Given the description of an element on the screen output the (x, y) to click on. 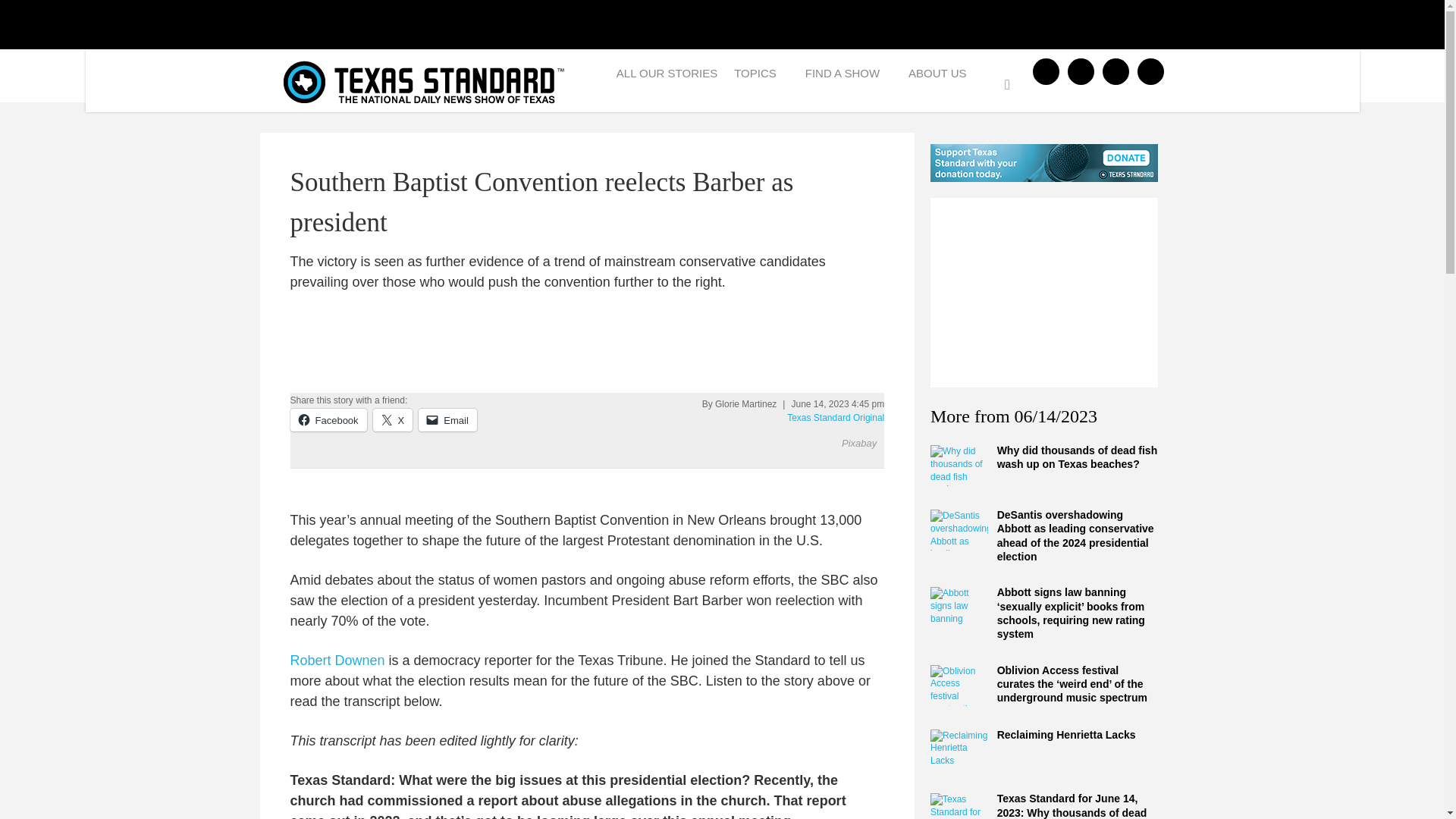
TOPICS (761, 77)
ALL OUR STORIES (666, 77)
Click to share on Facebook (327, 419)
Click to email a link to a friend (448, 419)
Click to share on X (392, 419)
